Given the description of an element on the screen output the (x, y) to click on. 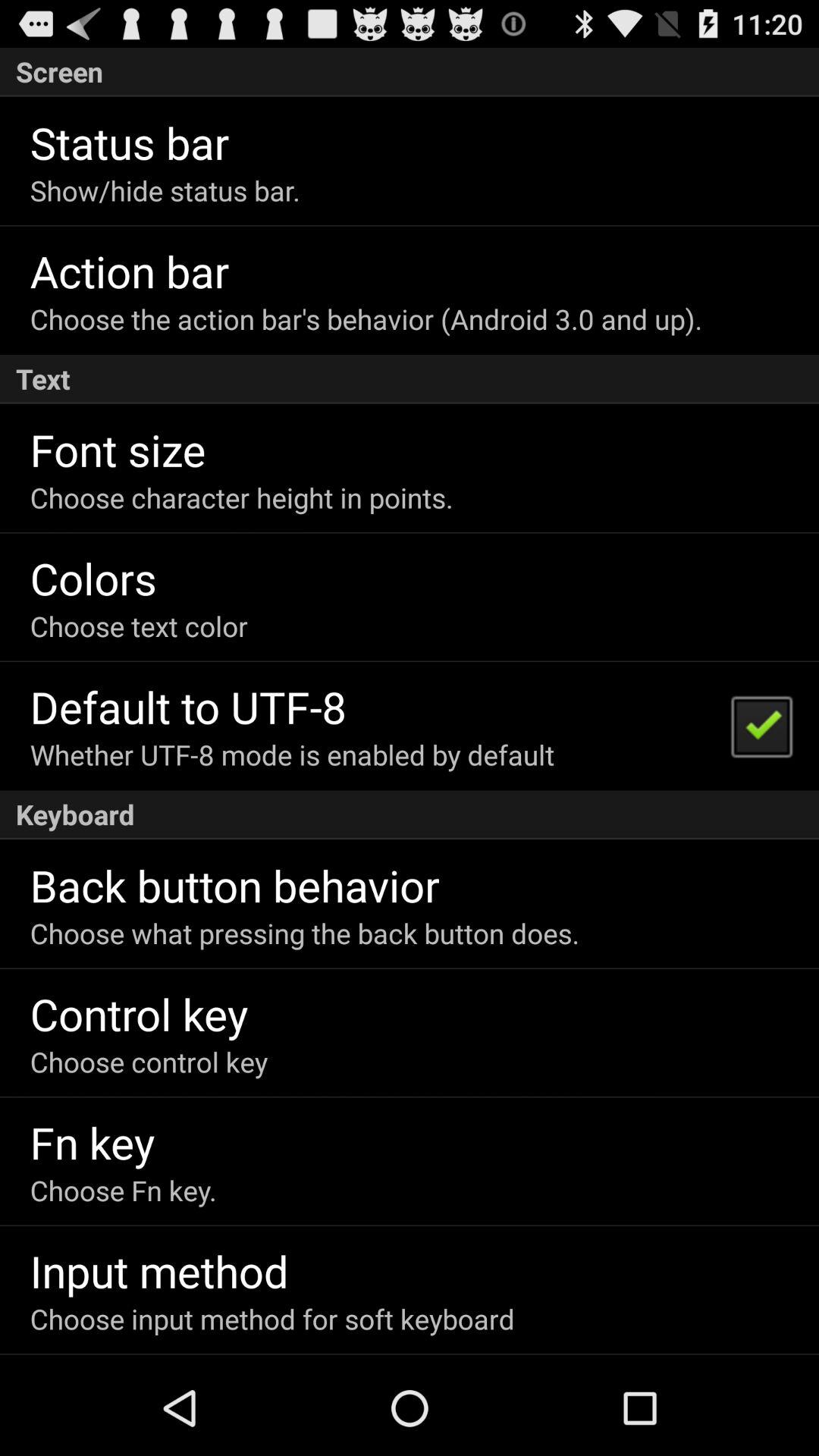
choose the icon below status bar (165, 190)
